Given the description of an element on the screen output the (x, y) to click on. 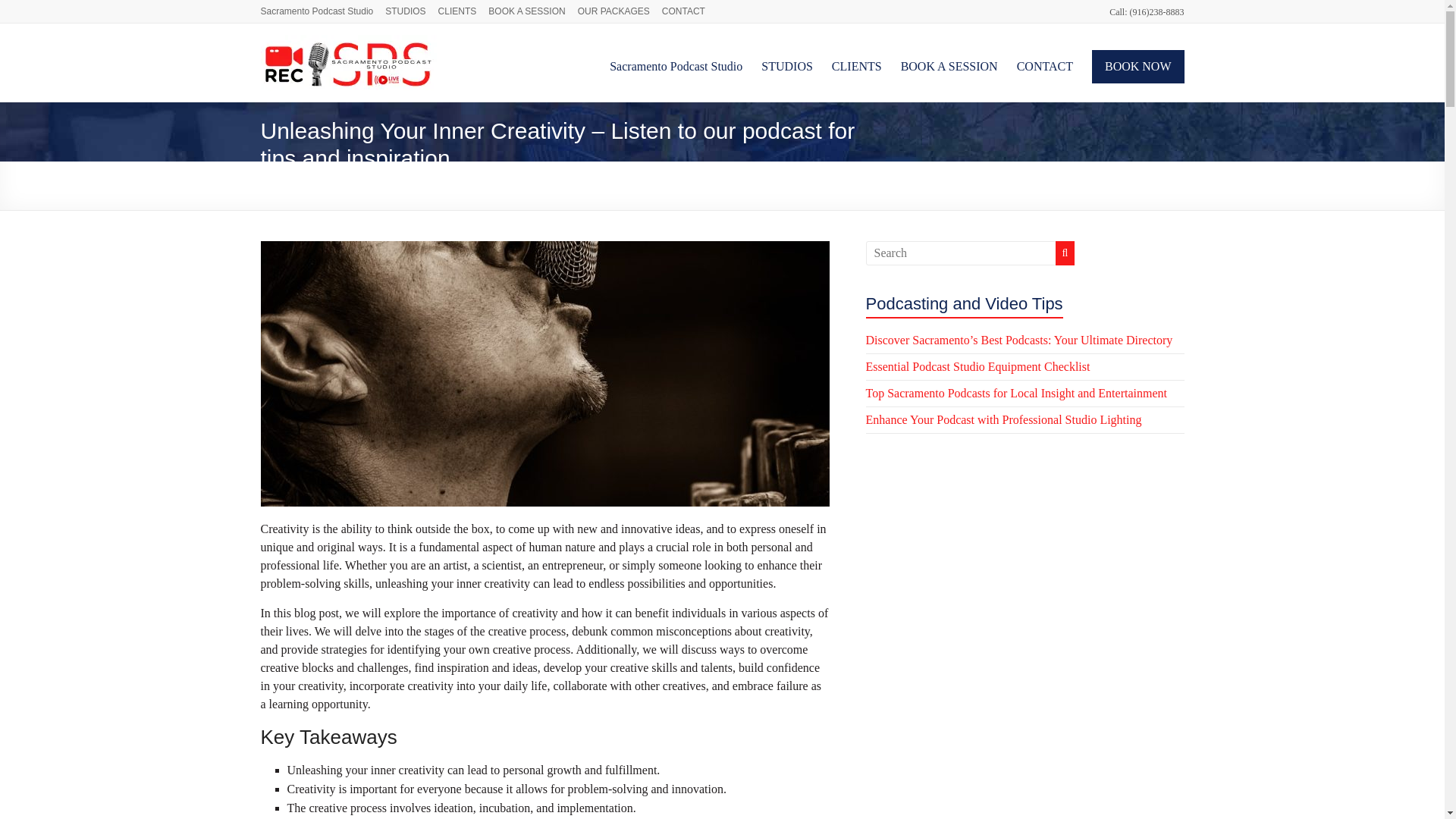
Sacramento Podcast Studio (322, 9)
OUR PACKAGES (620, 9)
Sacramento Podcast Studio (578, 185)
Uncategorized (742, 185)
Sacramento Podcast Studio (323, 83)
Go to the Uncategorized Category archives. (742, 185)
STUDIOS (786, 66)
